Given the description of an element on the screen output the (x, y) to click on. 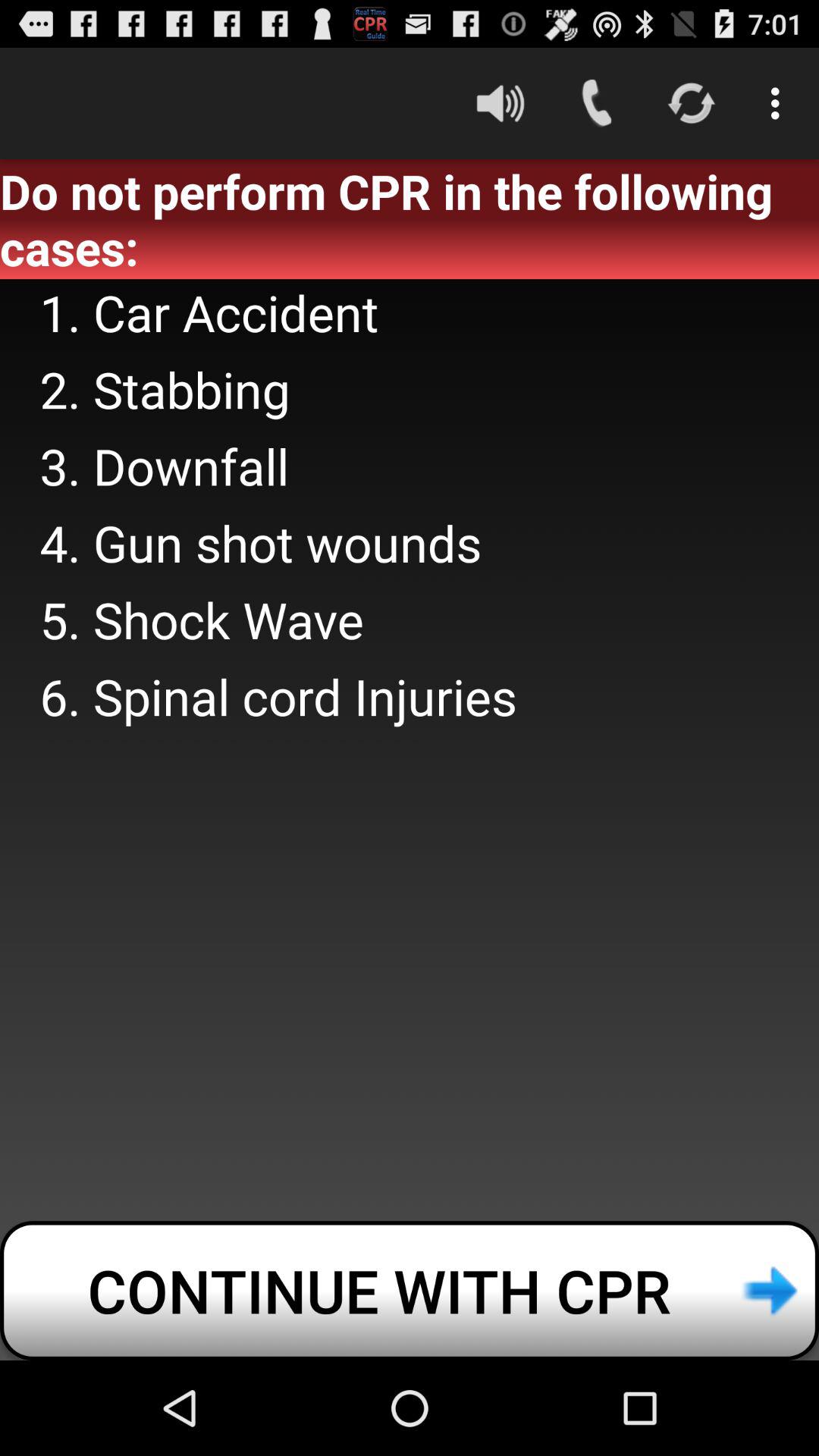
turn on item above do not perform (500, 103)
